Given the description of an element on the screen output the (x, y) to click on. 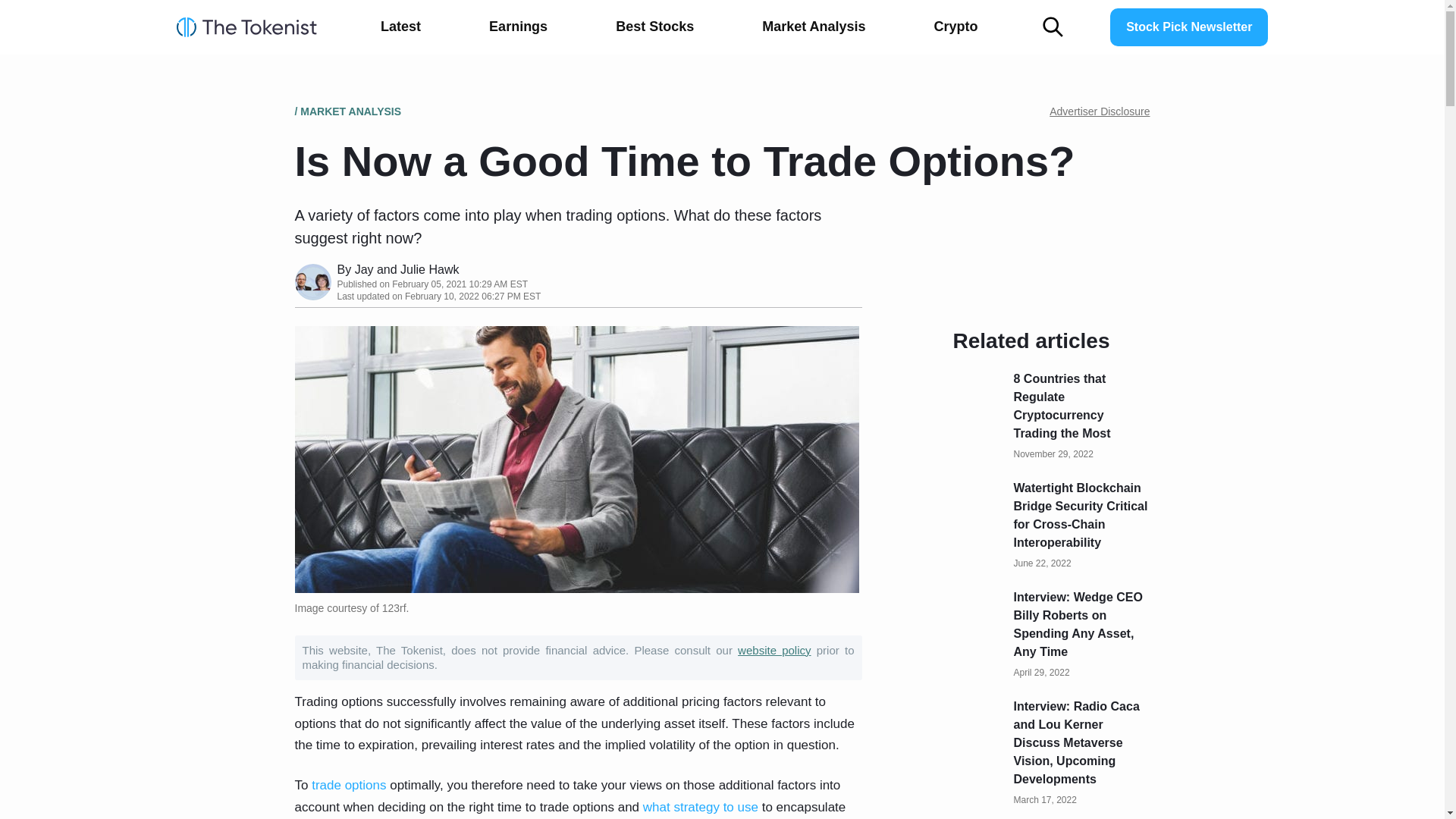
Market Analysis (813, 27)
Best Stocks (654, 27)
trade options (348, 785)
Earnings (517, 27)
MARKET ANALYSIS (350, 111)
Crypto (955, 27)
what strategy to use (700, 807)
website policy (774, 649)
Stock Pick Newsletter (1188, 26)
Jay and Julie Hawk (407, 269)
